Given the description of an element on the screen output the (x, y) to click on. 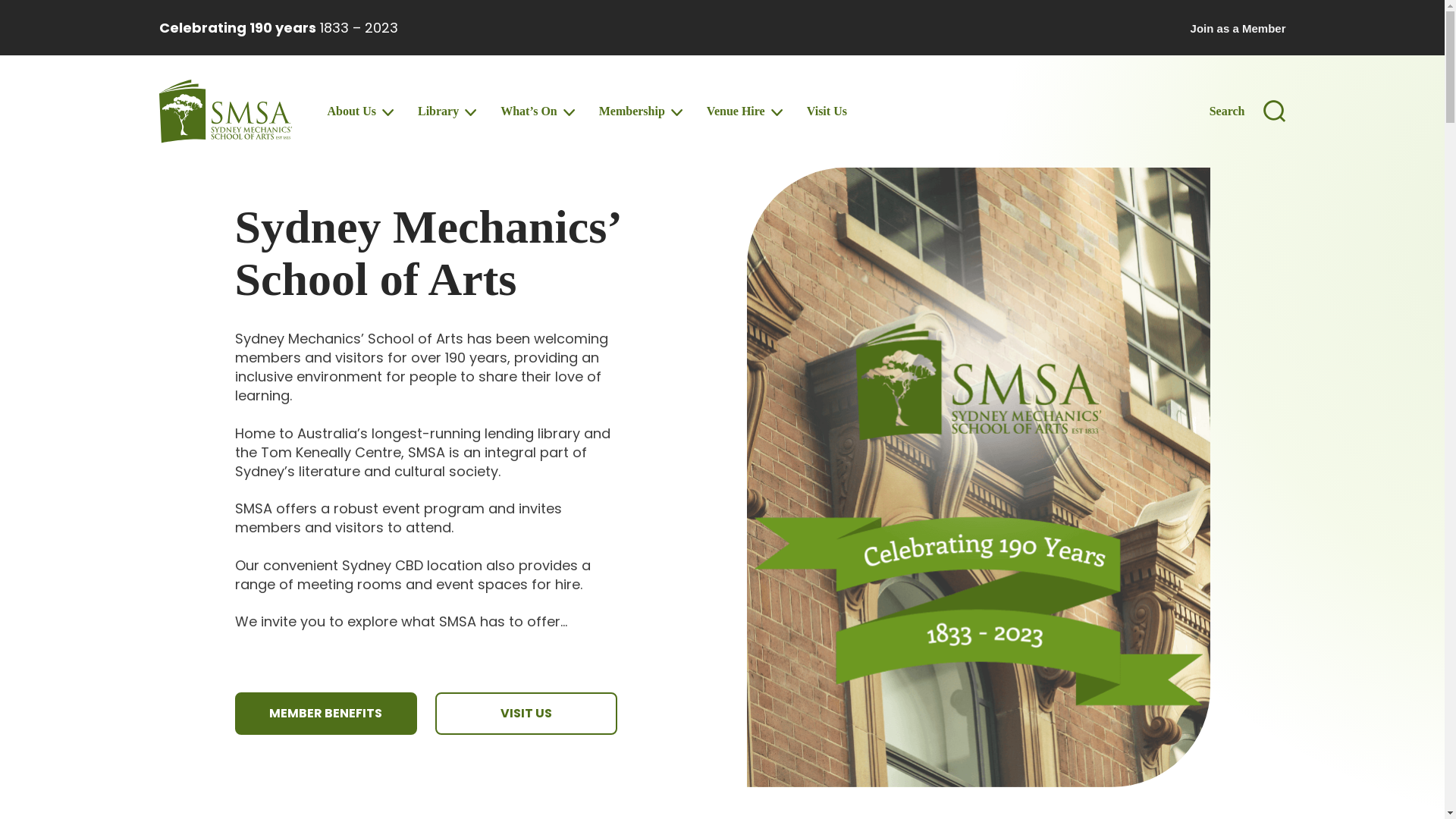
Membership Element type: text (638, 111)
MEMBER BENEFITS Element type: text (326, 713)
Venue Hire Element type: text (742, 111)
Search Element type: text (1247, 111)
Join as a Member Element type: text (1238, 27)
About Us Element type: text (357, 111)
Library Element type: text (444, 111)
VISIT US Element type: text (526, 713)
Visit Us Element type: text (826, 111)
